Given the description of an element on the screen output the (x, y) to click on. 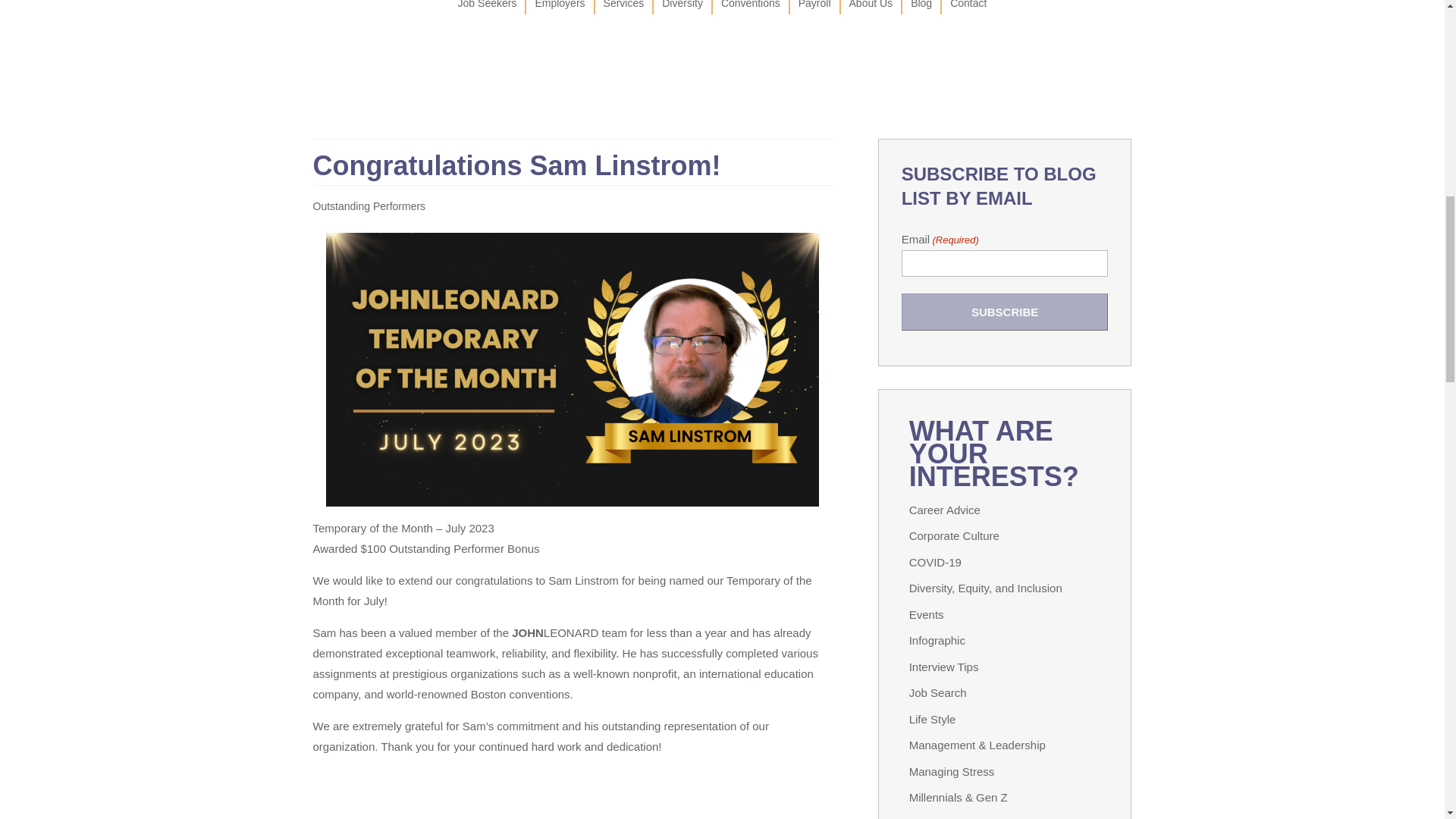
Employers (559, 7)
Job Seekers (487, 7)
Subscribe (1004, 311)
Services (624, 7)
Diversity (682, 7)
